Given the description of an element on the screen output the (x, y) to click on. 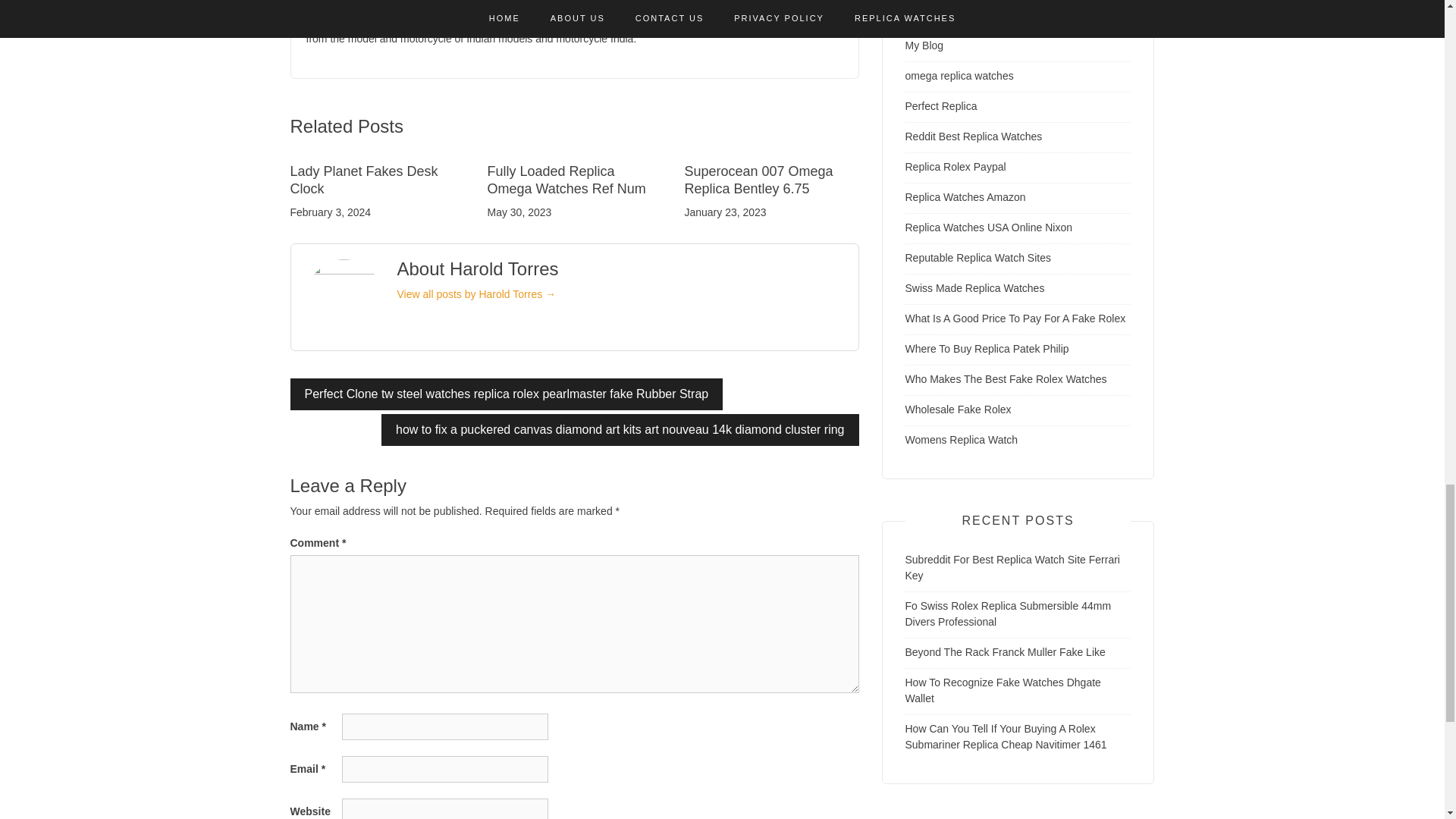
Fully Loaded Replica Omega Watches Ref Num (565, 179)
Lady Planet Fakes Desk Clock (363, 179)
Superocean 007 Omega Replica Bentley 6.75 (758, 179)
